Given the description of an element on the screen output the (x, y) to click on. 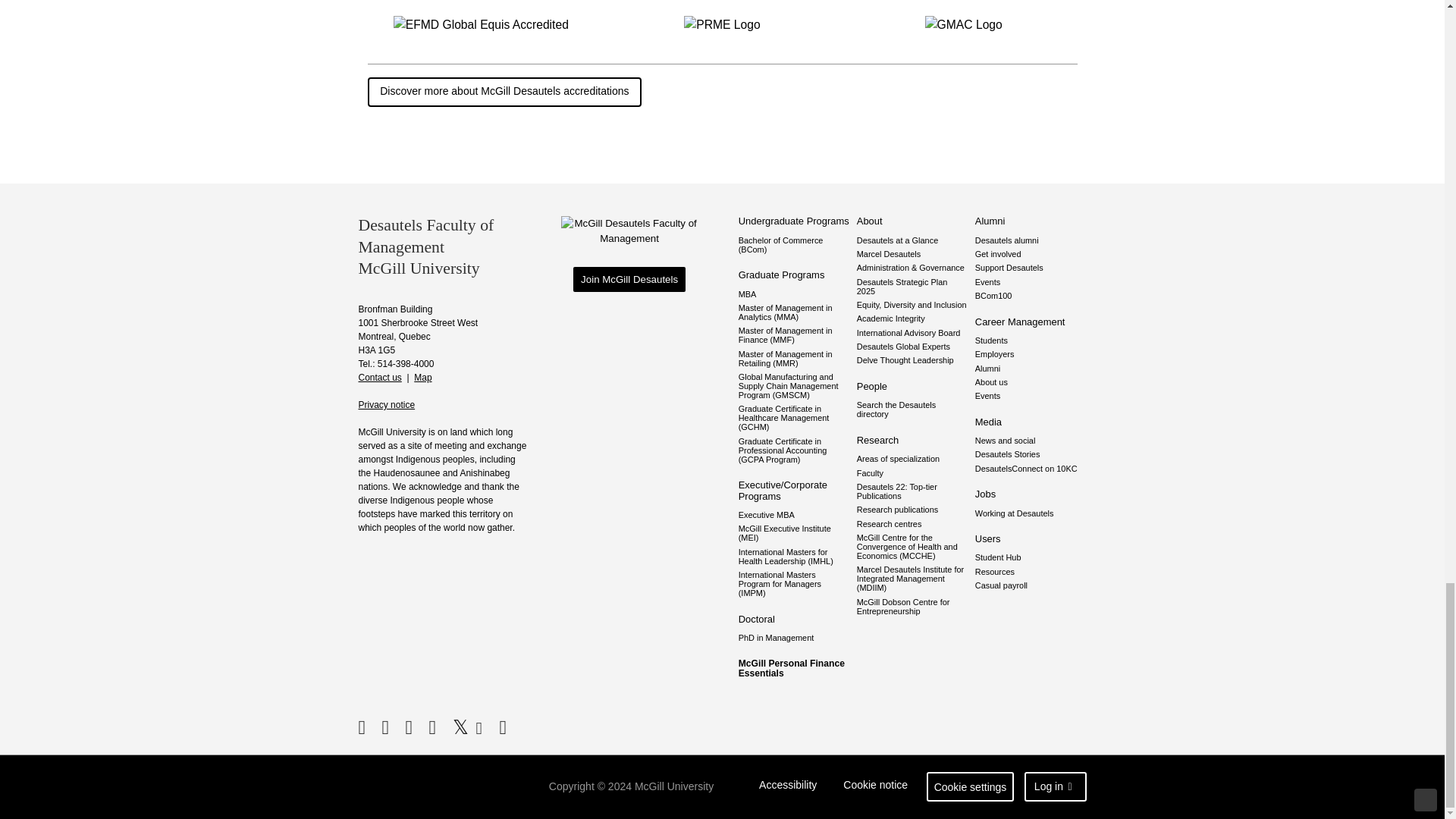
EQUIS Accredited (481, 24)
PRIME (722, 24)
GMAC (963, 24)
